Given the description of an element on the screen output the (x, y) to click on. 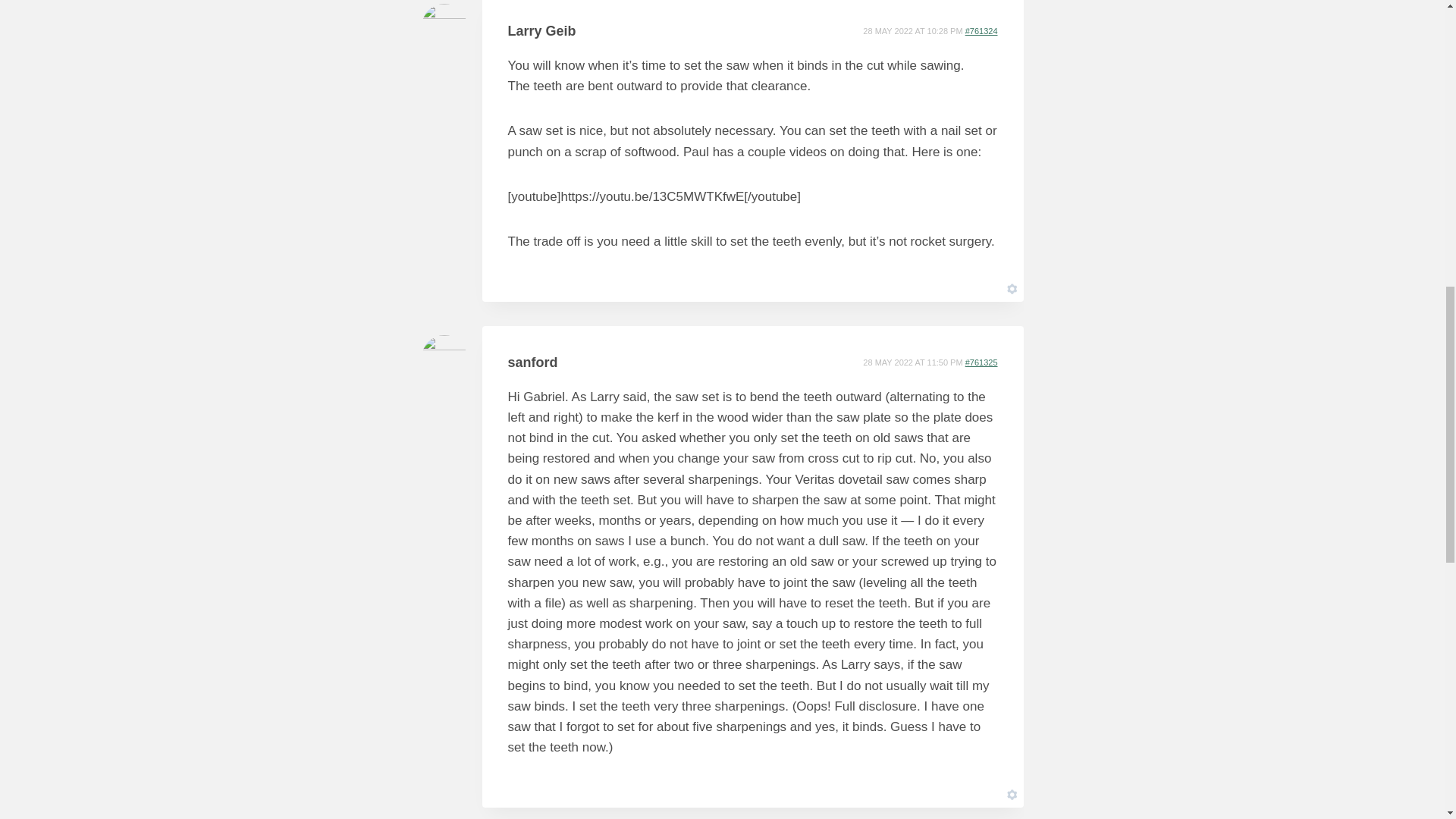
Larry Geib (542, 30)
View Larry Geib's profile (542, 30)
Reply To: Importance of a sawset (981, 31)
Reply To: Importance of a sawset (981, 361)
View sanford's profile (532, 362)
